Given the description of an element on the screen output the (x, y) to click on. 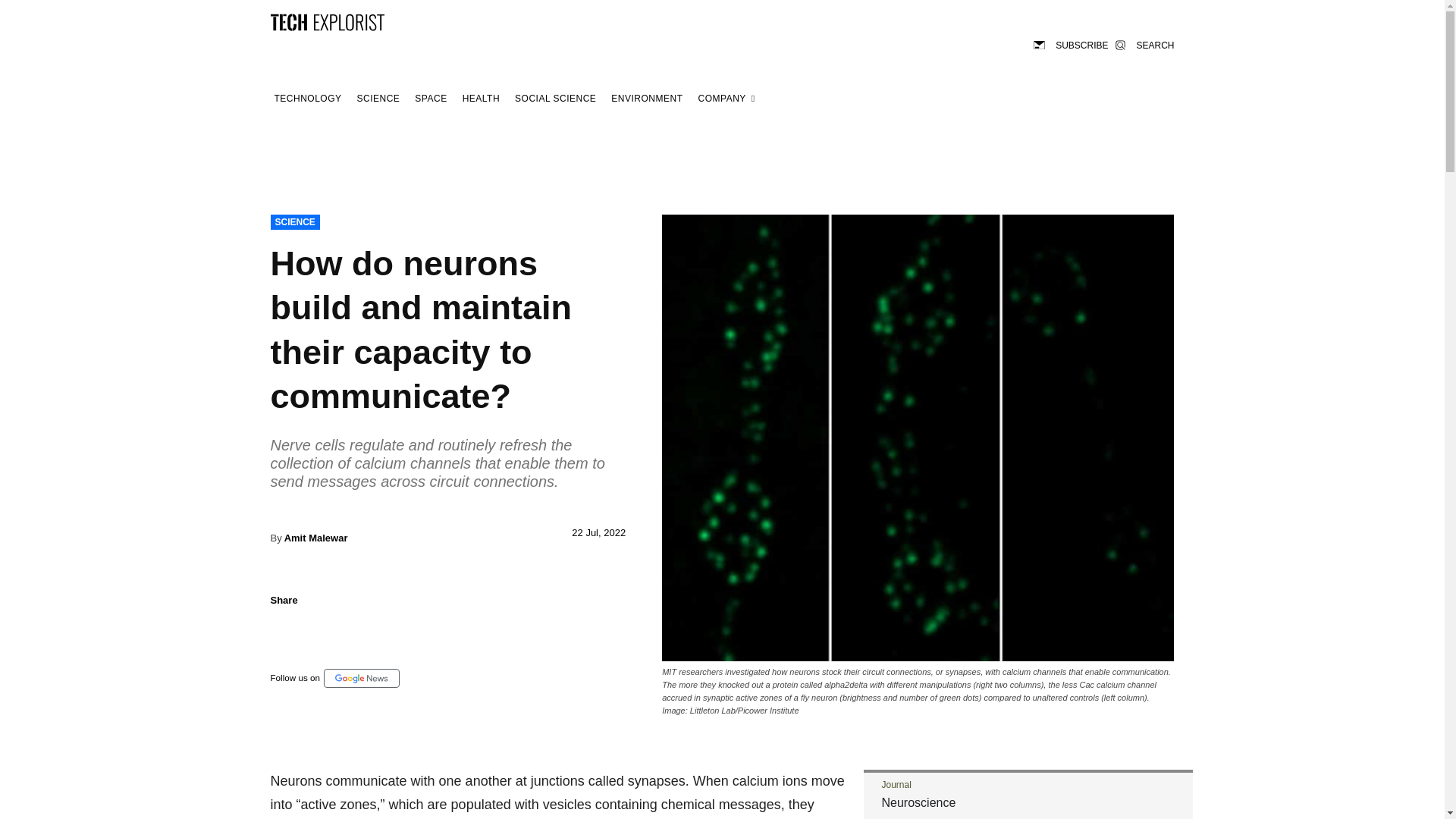
COMPANY (726, 98)
Amit Malewar (315, 537)
SCIENCE (378, 98)
SCIENCE (293, 222)
SPACE (429, 98)
HEALTH (480, 98)
SEARCH (1144, 44)
Tech Explorist (326, 21)
SEARCH (1144, 44)
